Given the description of an element on the screen output the (x, y) to click on. 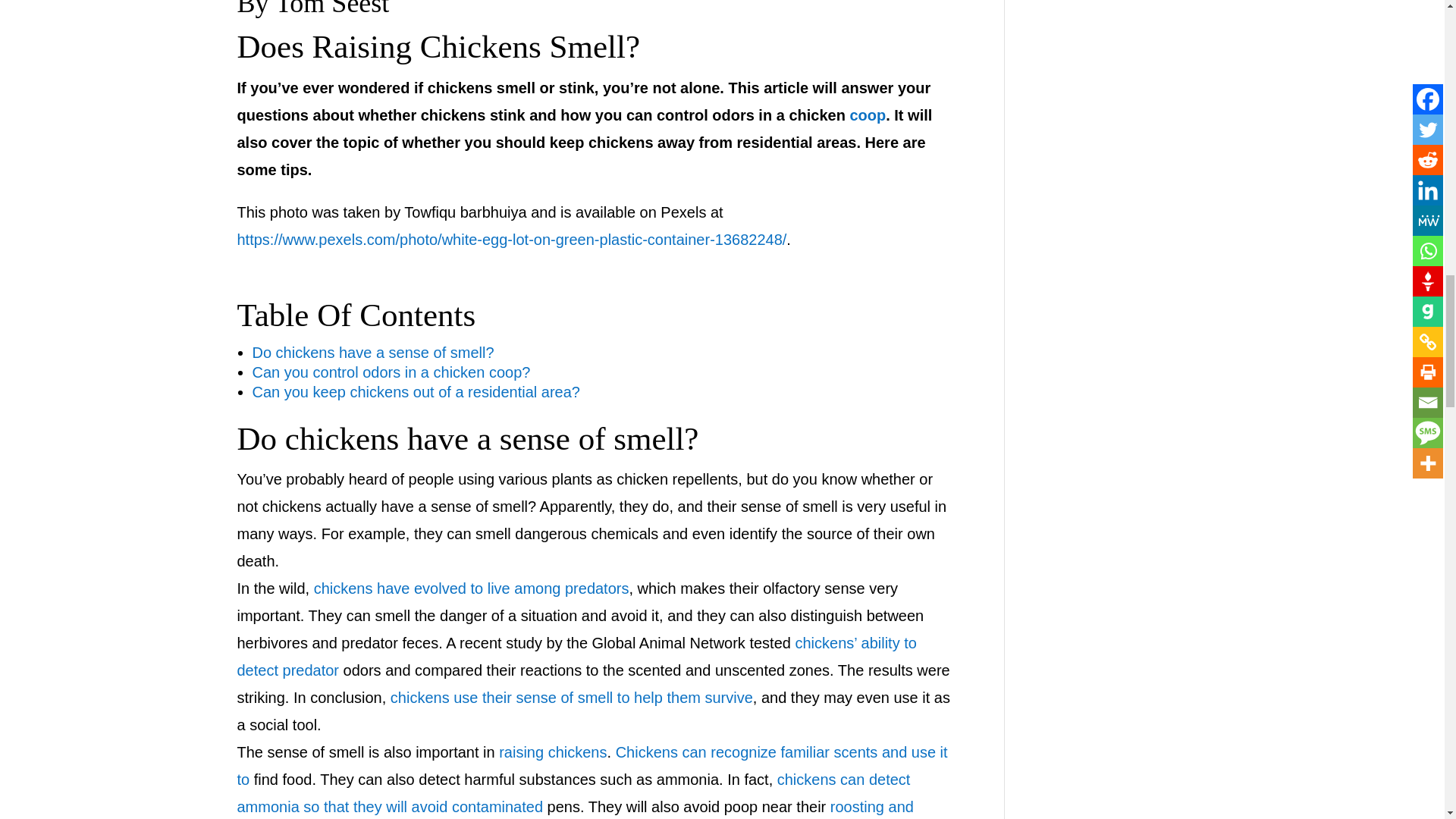
Can you keep chickens out of a residential area? (415, 392)
Tom Seest (331, 9)
coop (866, 115)
Can you control odors in a chicken coop? (390, 371)
Does Raising Chickens Smell? (437, 46)
Do chickens have a sense of smell? (372, 352)
